Given the description of an element on the screen output the (x, y) to click on. 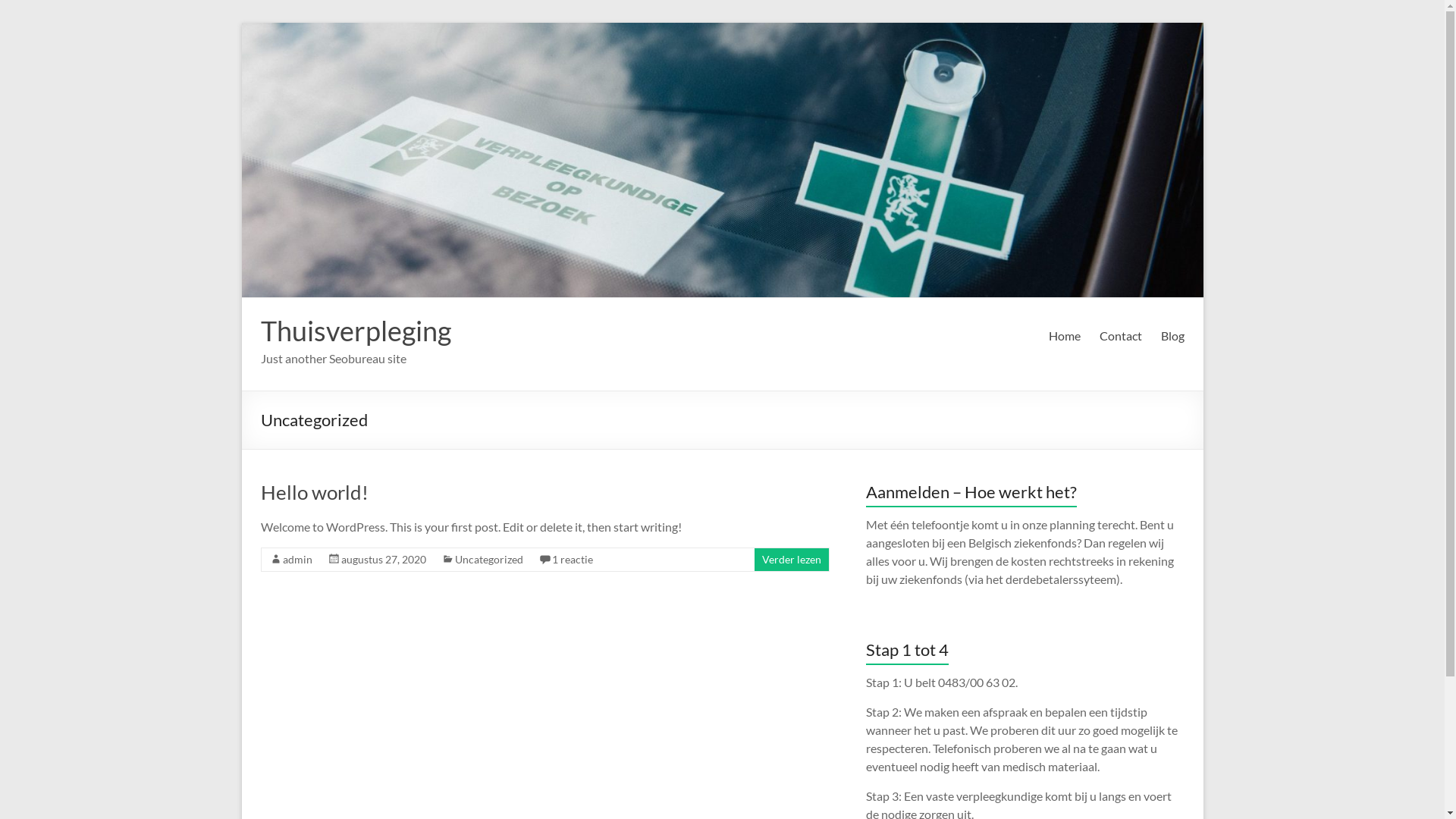
Blog Element type: text (1171, 335)
augustus 27, 2020 Element type: text (383, 558)
admin Element type: text (296, 558)
Home Element type: text (1063, 335)
Contact Element type: text (1120, 335)
Thuisverpleging Element type: text (355, 330)
Uncategorized Element type: text (489, 558)
Ga naar inhoud Element type: text (241, 21)
Verder lezen Element type: text (790, 558)
1 reactie Element type: text (572, 558)
Hello world! Element type: text (314, 492)
